Given the description of an element on the screen output the (x, y) to click on. 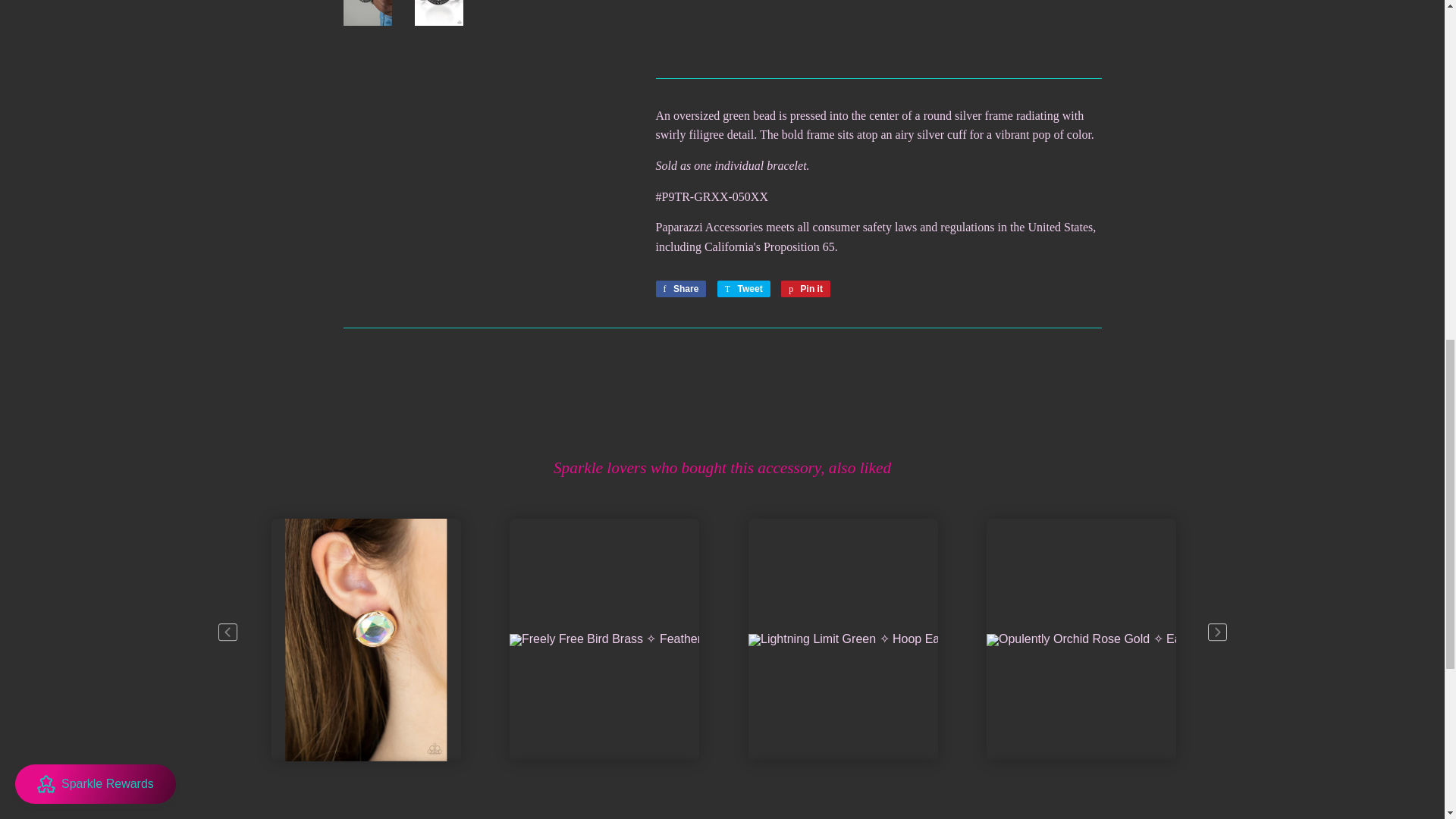
Pin on Pinterest (804, 288)
Tweet on Twitter (743, 288)
Share on Facebook (680, 288)
